Given the description of an element on the screen output the (x, y) to click on. 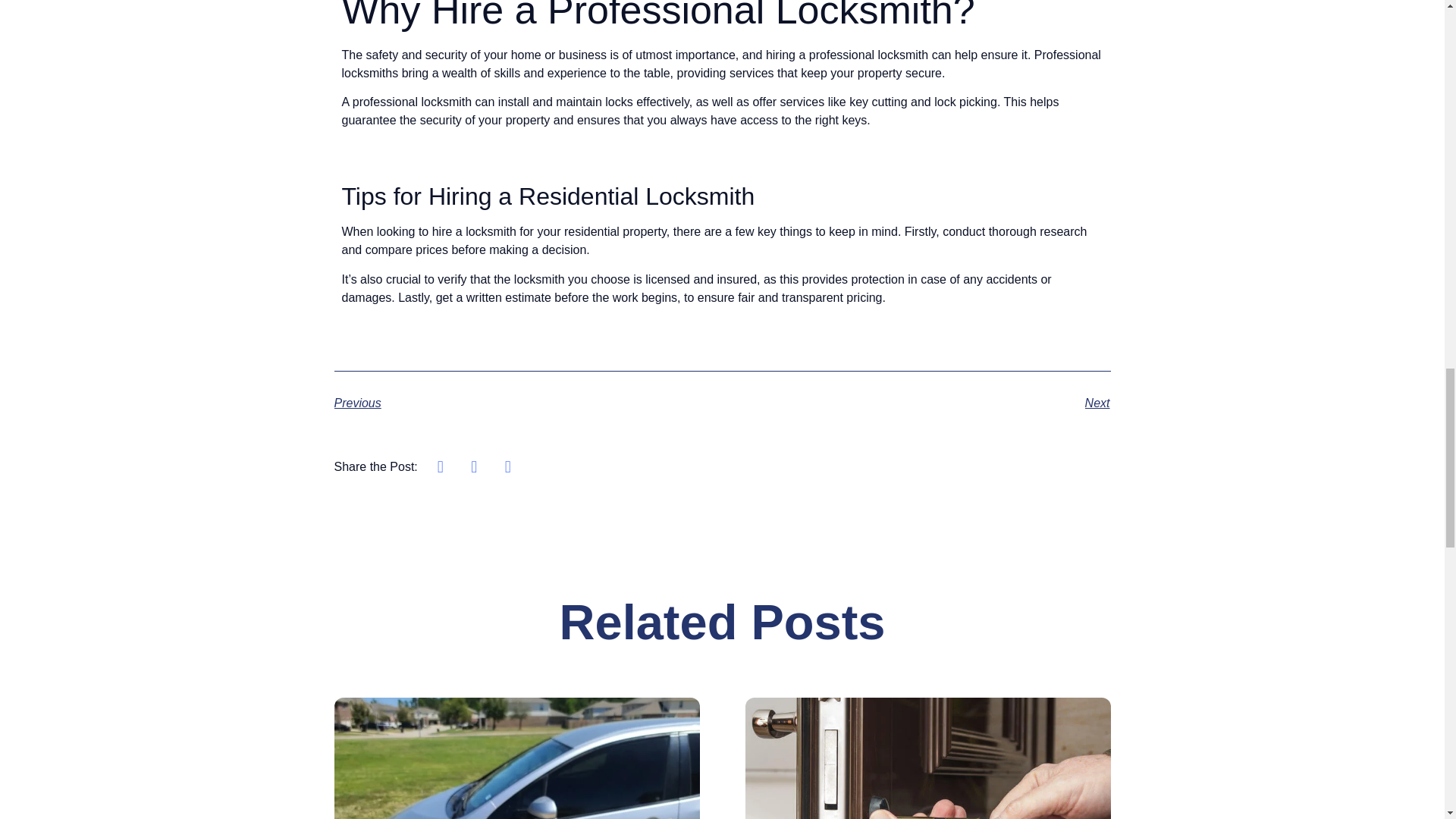
Previous (527, 402)
Next (915, 402)
